Given the description of an element on the screen output the (x, y) to click on. 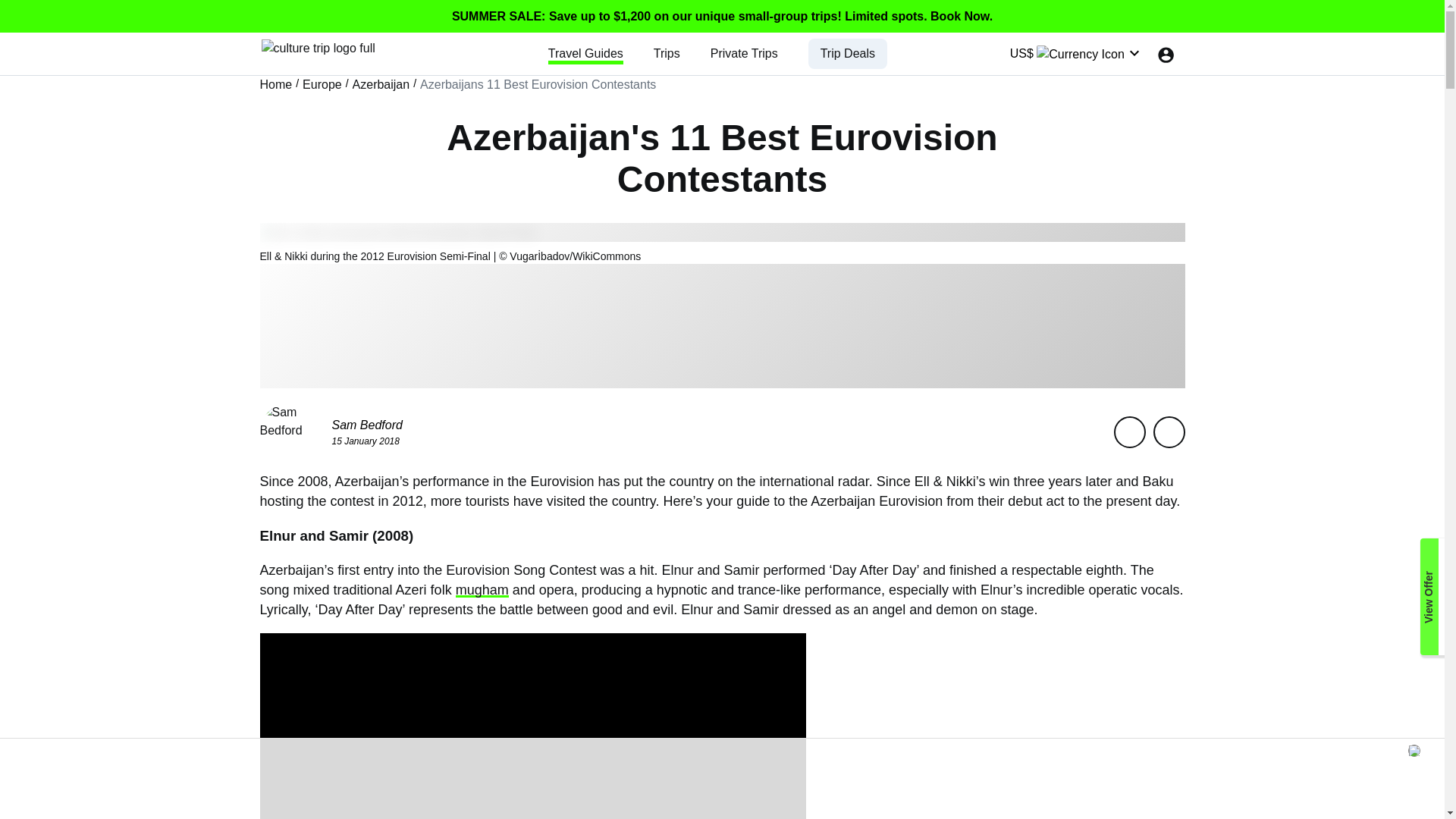
Home (275, 85)
Travel Guides (585, 53)
Private Trips (743, 53)
Azerbaijans 11 Best Eurovision Contestants (538, 85)
15 January 2018 (364, 440)
Private Trips (743, 53)
Trips (666, 53)
Travel Guides (585, 53)
Europe (322, 85)
Trip Deals (848, 53)
